Given the description of an element on the screen output the (x, y) to click on. 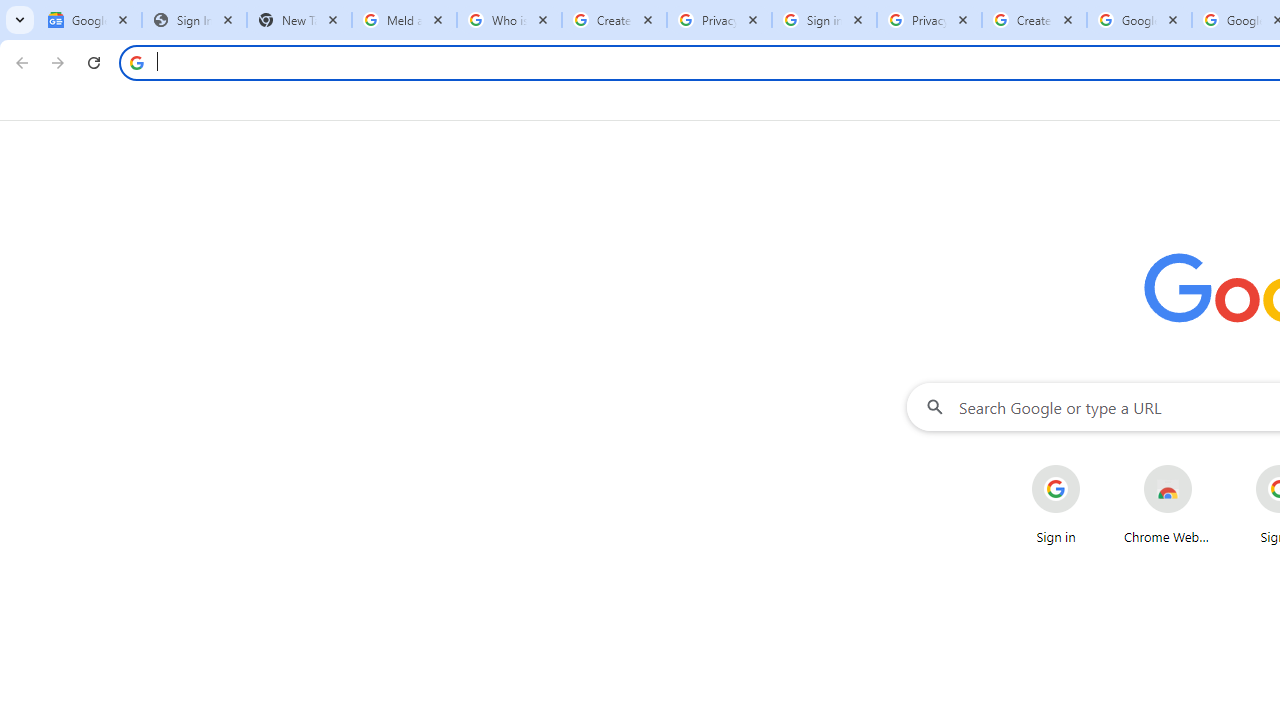
More actions for Sign in shortcut (1095, 466)
New Tab (299, 20)
More actions for Chrome Web Store shortcut (1208, 466)
Create your Google Account (1033, 20)
Google News (89, 20)
Sign In - USA TODAY (194, 20)
Who is my administrator? - Google Account Help (509, 20)
